Given the description of an element on the screen output the (x, y) to click on. 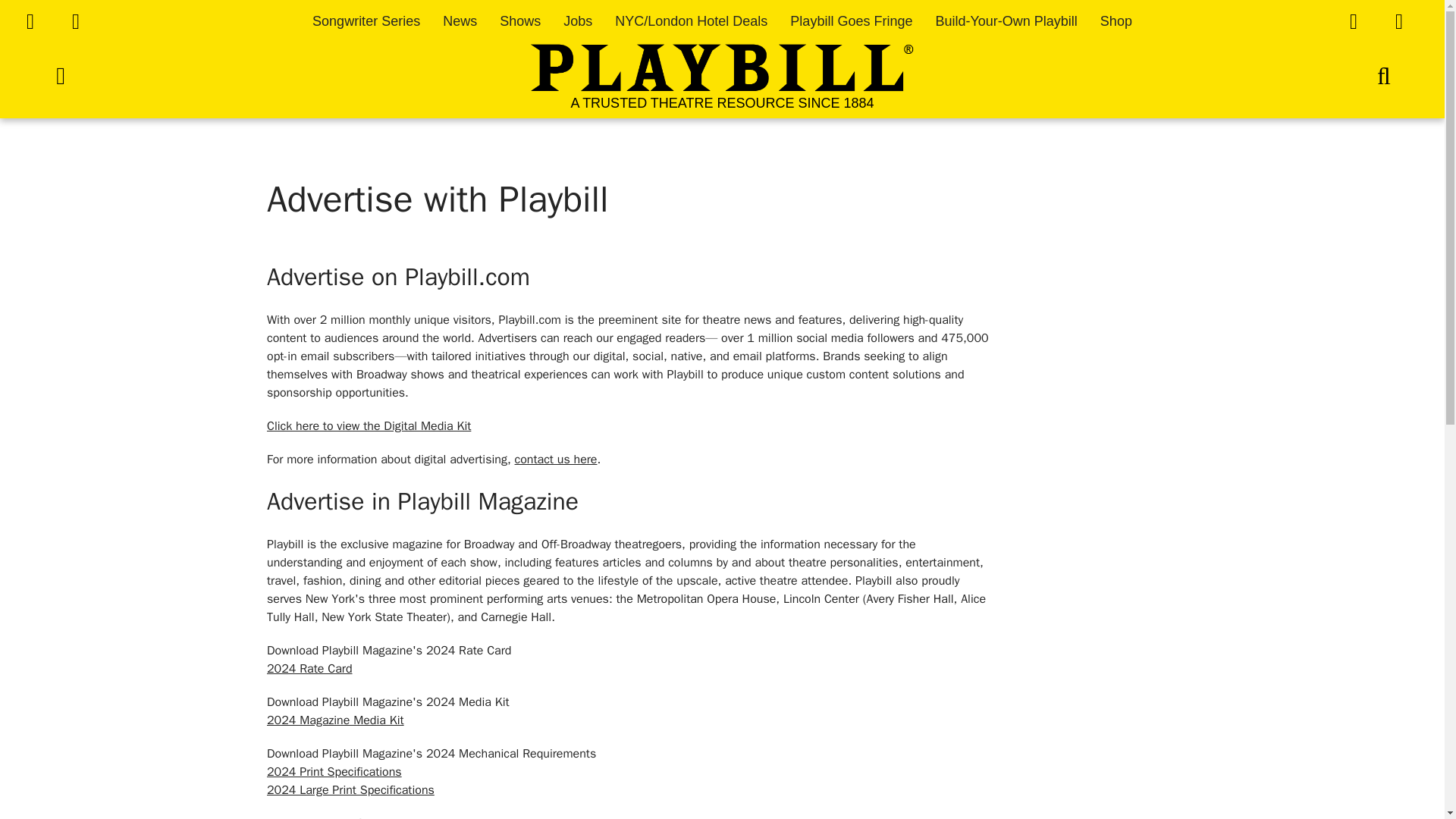
Playbill Goes Fringe (851, 20)
Shop (1116, 20)
News (459, 20)
Shows (519, 20)
Jobs (577, 20)
Build-Your-Own Playbill (1005, 20)
Songwriter Series (366, 20)
